Given the description of an element on the screen output the (x, y) to click on. 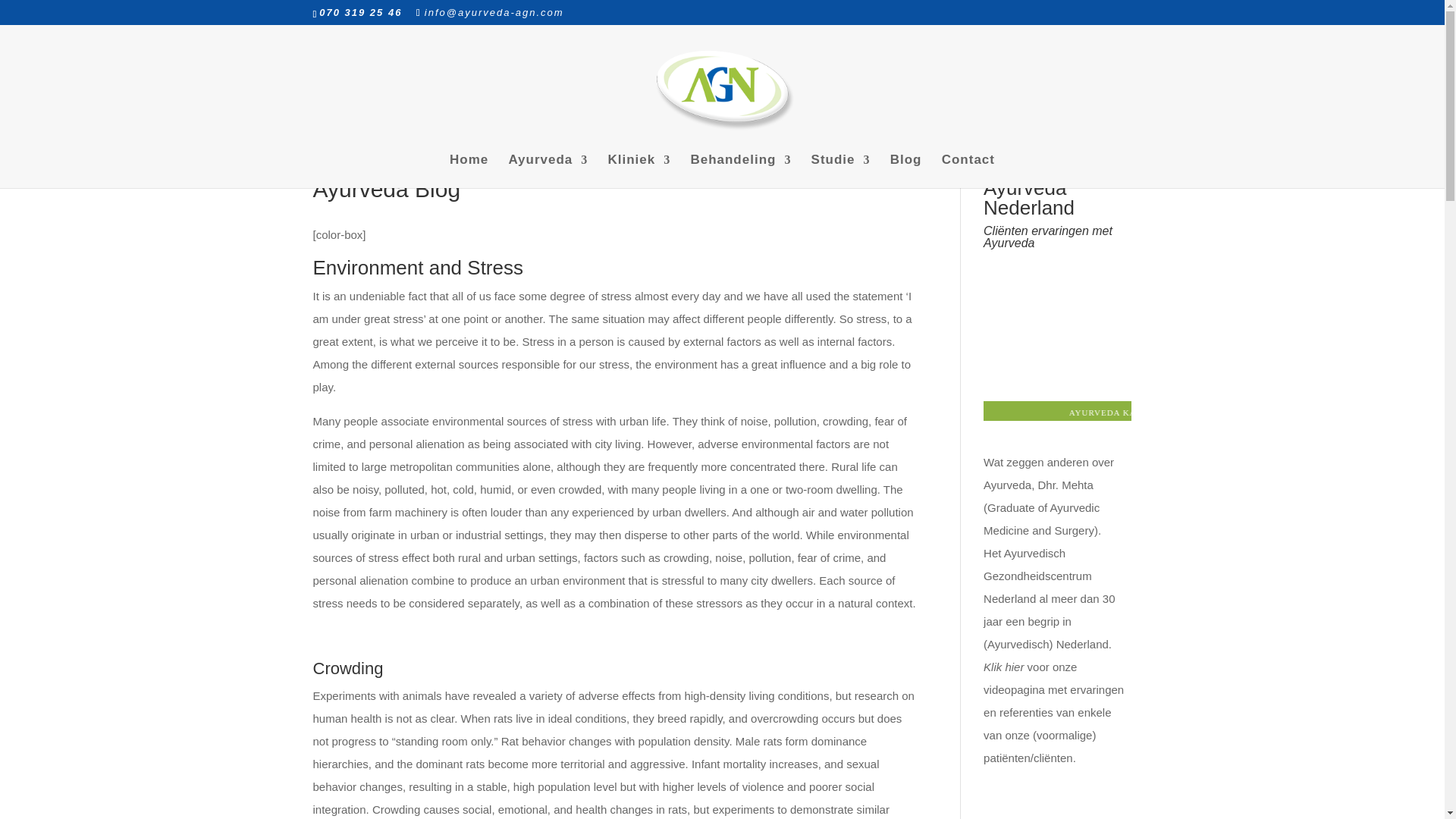
Ayurveda (548, 171)
Kliniek (638, 171)
Home (468, 171)
